Given the description of an element on the screen output the (x, y) to click on. 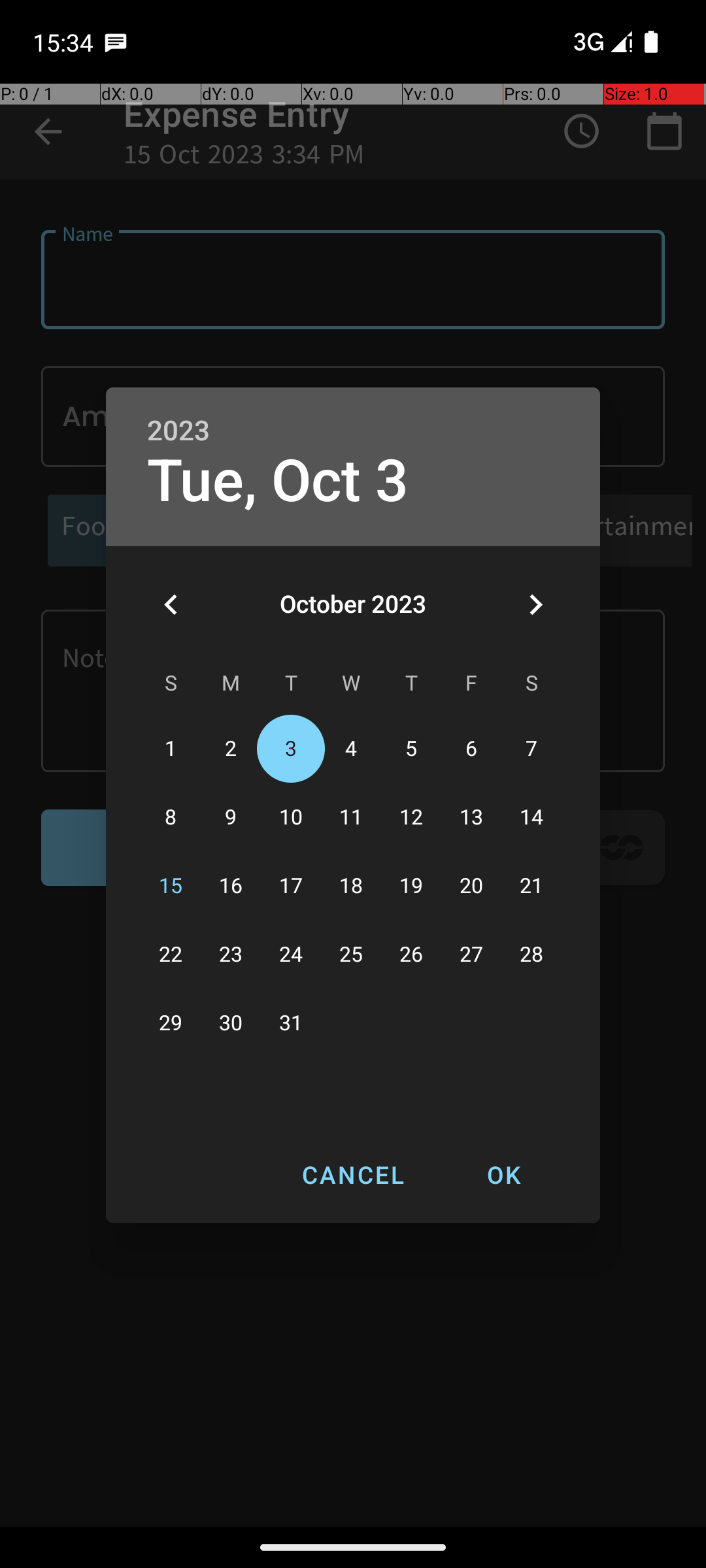
Tue, Oct 3 Element type: android.widget.TextView (278, 480)
